Given the description of an element on the screen output the (x, y) to click on. 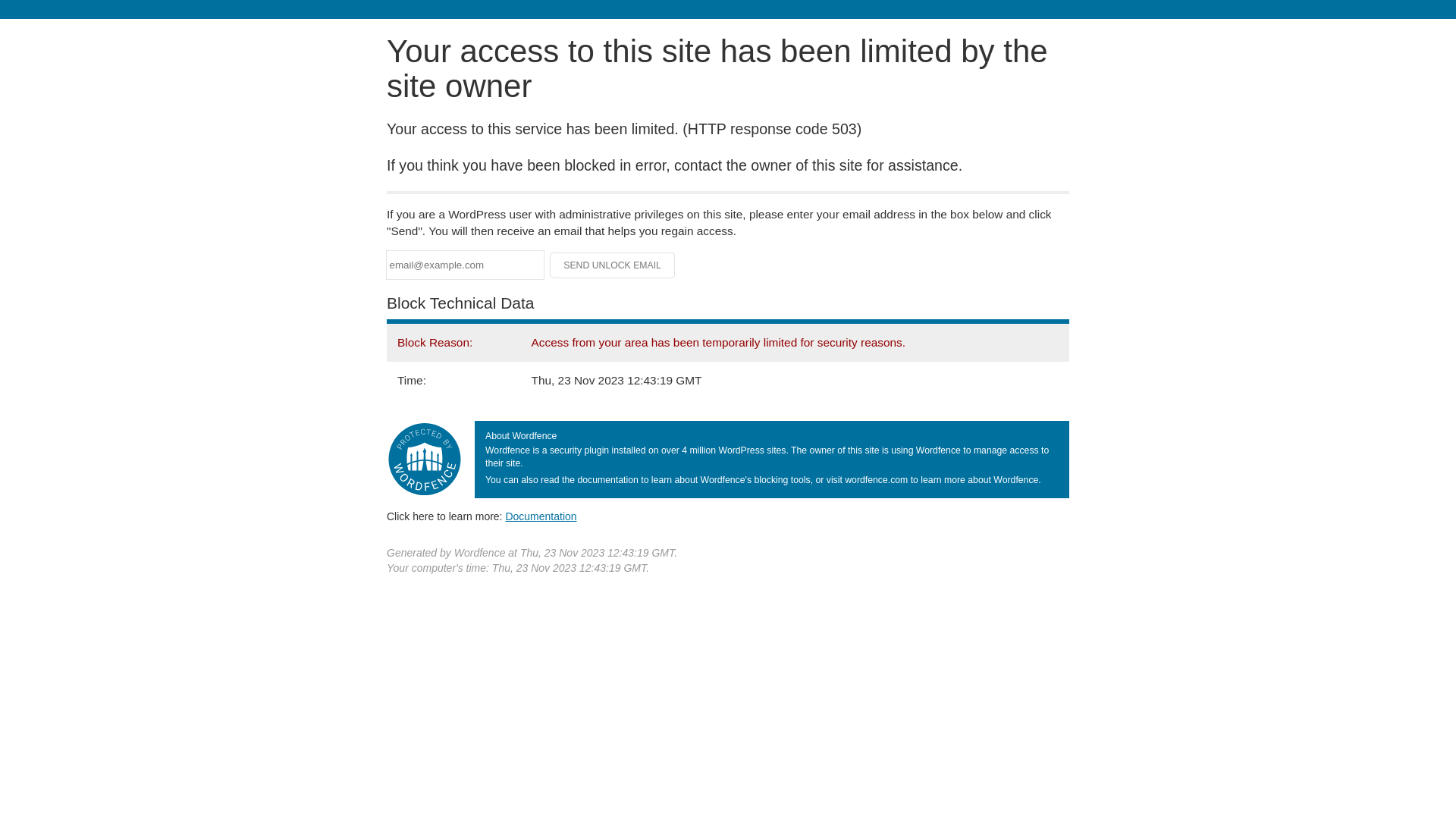
Documentation Element type: text (540, 516)
Send Unlock Email Element type: text (612, 265)
